Given the description of an element on the screen output the (x, y) to click on. 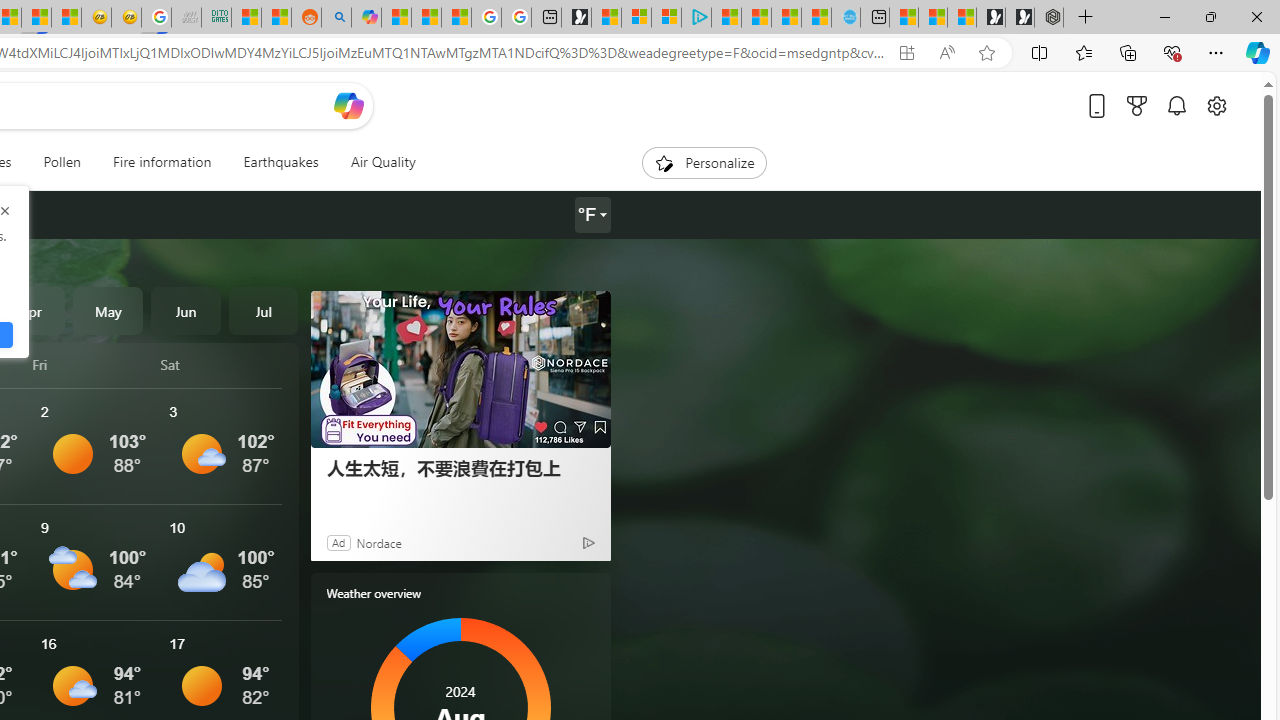
Sat (221, 363)
Jun (186, 310)
Weather settings (591, 215)
Microsoft rewards (1137, 105)
Jul (263, 310)
Open settings (1216, 105)
